Given the description of an element on the screen output the (x, y) to click on. 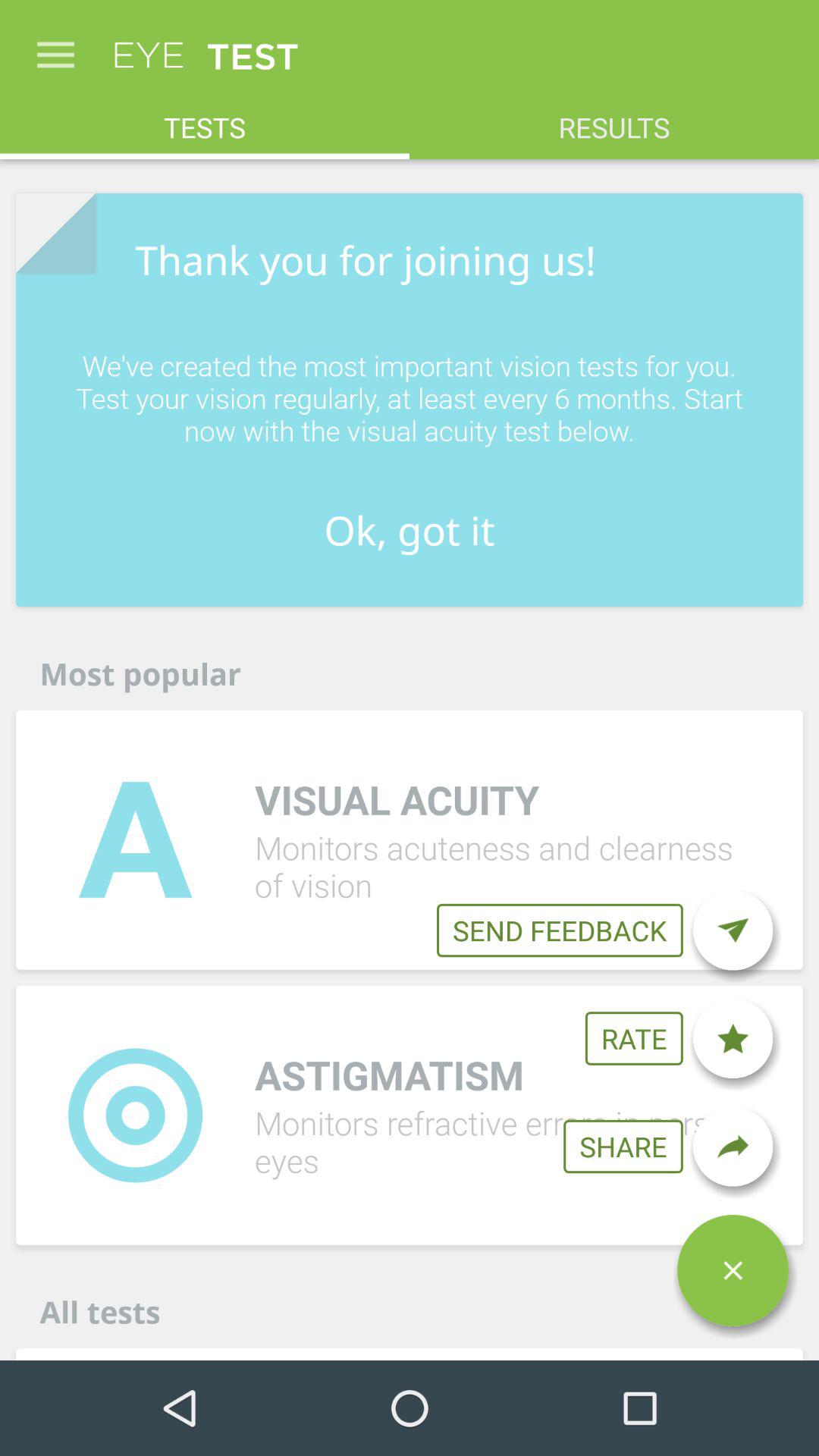
close (733, 1270)
